Given the description of an element on the screen output the (x, y) to click on. 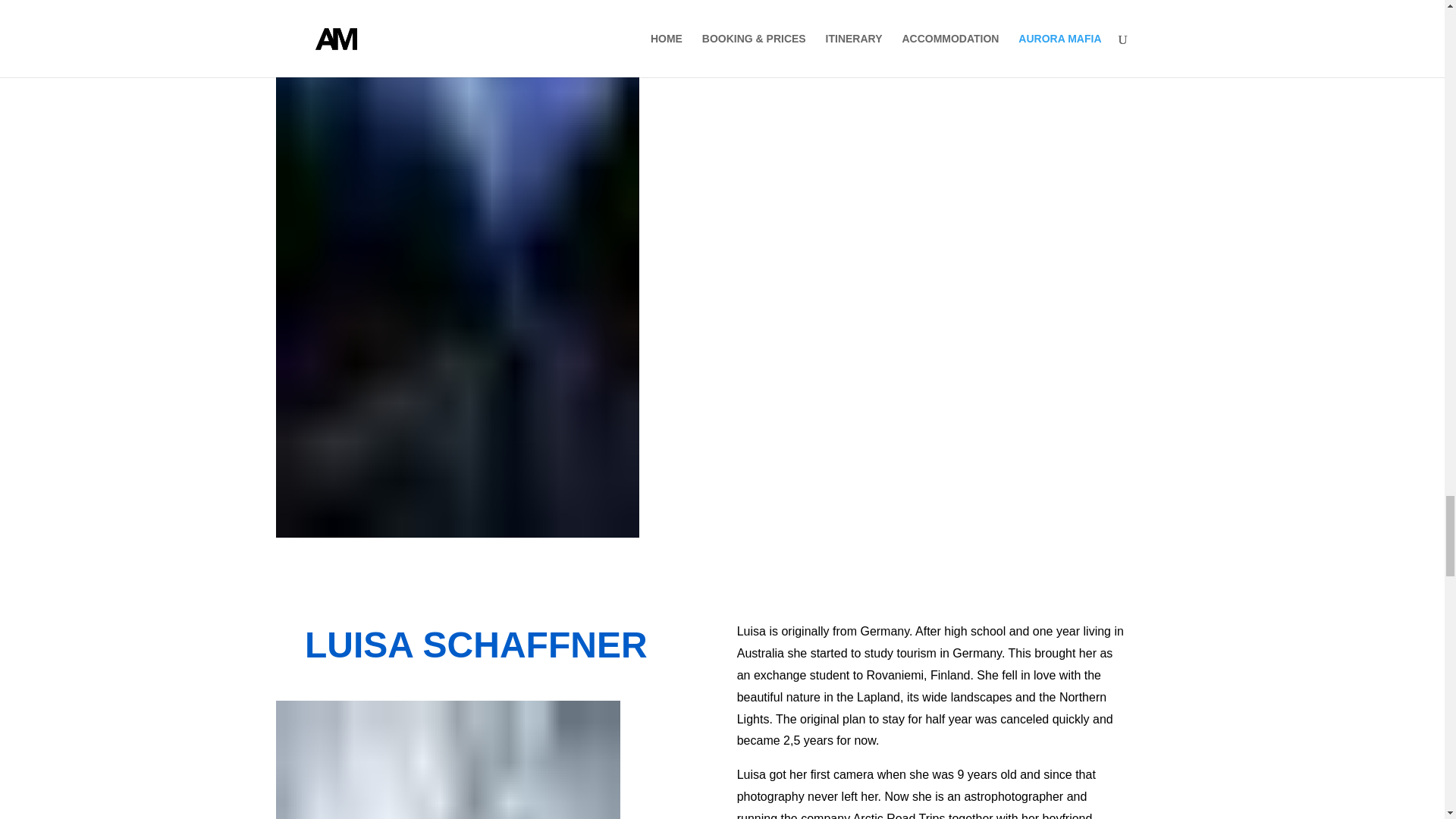
Luisa Schaffner, Aurora Mafia, Lapland, Finalnd (448, 760)
www.arcticroadtrips.com (809, 61)
